Given the description of an element on the screen output the (x, y) to click on. 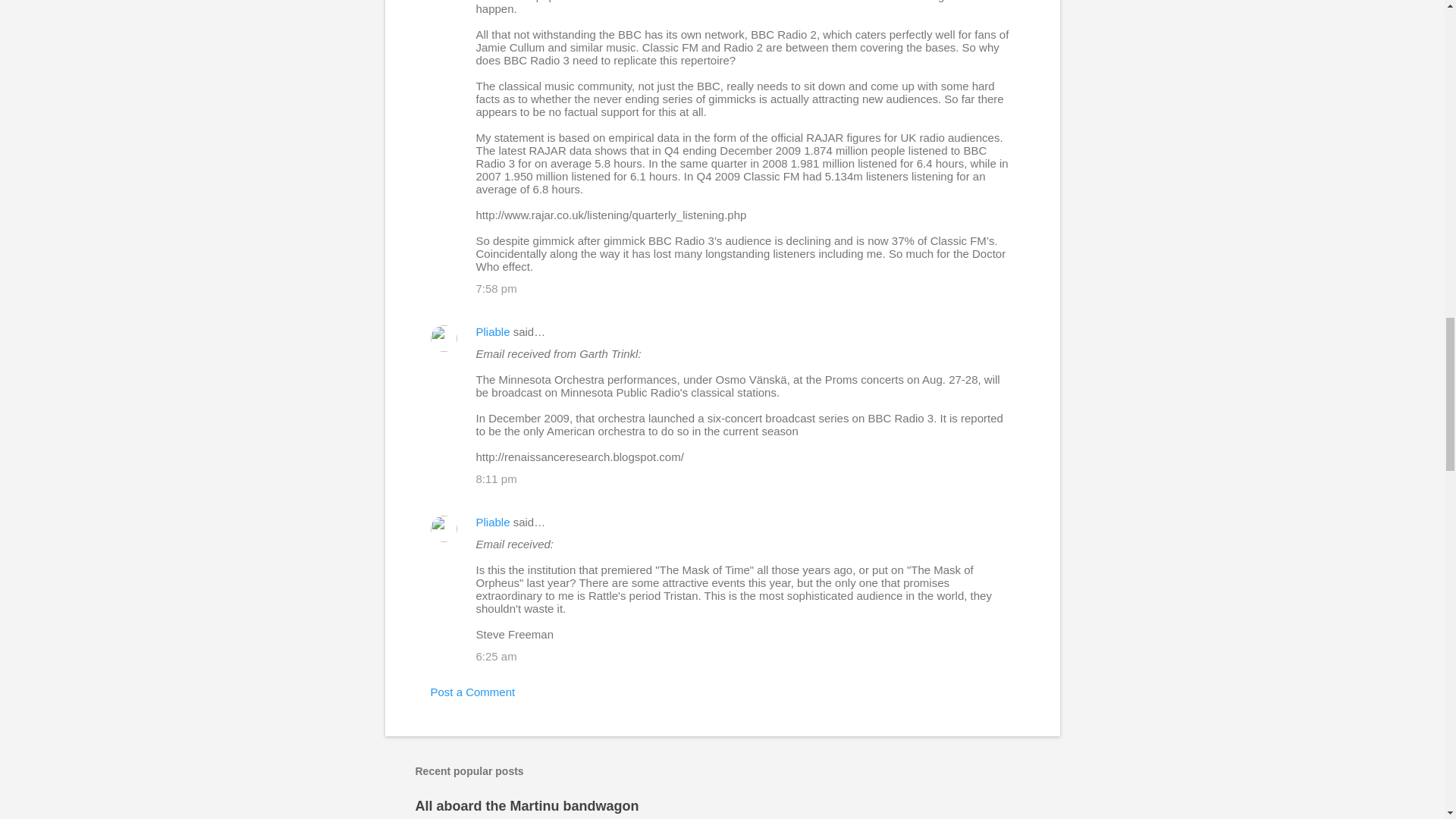
6:25 am (496, 656)
All aboard the Martinu bandwagon (526, 806)
8:11 pm (496, 478)
Pliable (493, 331)
Pliable (493, 521)
Post a Comment (472, 691)
7:58 pm (496, 287)
